Given the description of an element on the screen output the (x, y) to click on. 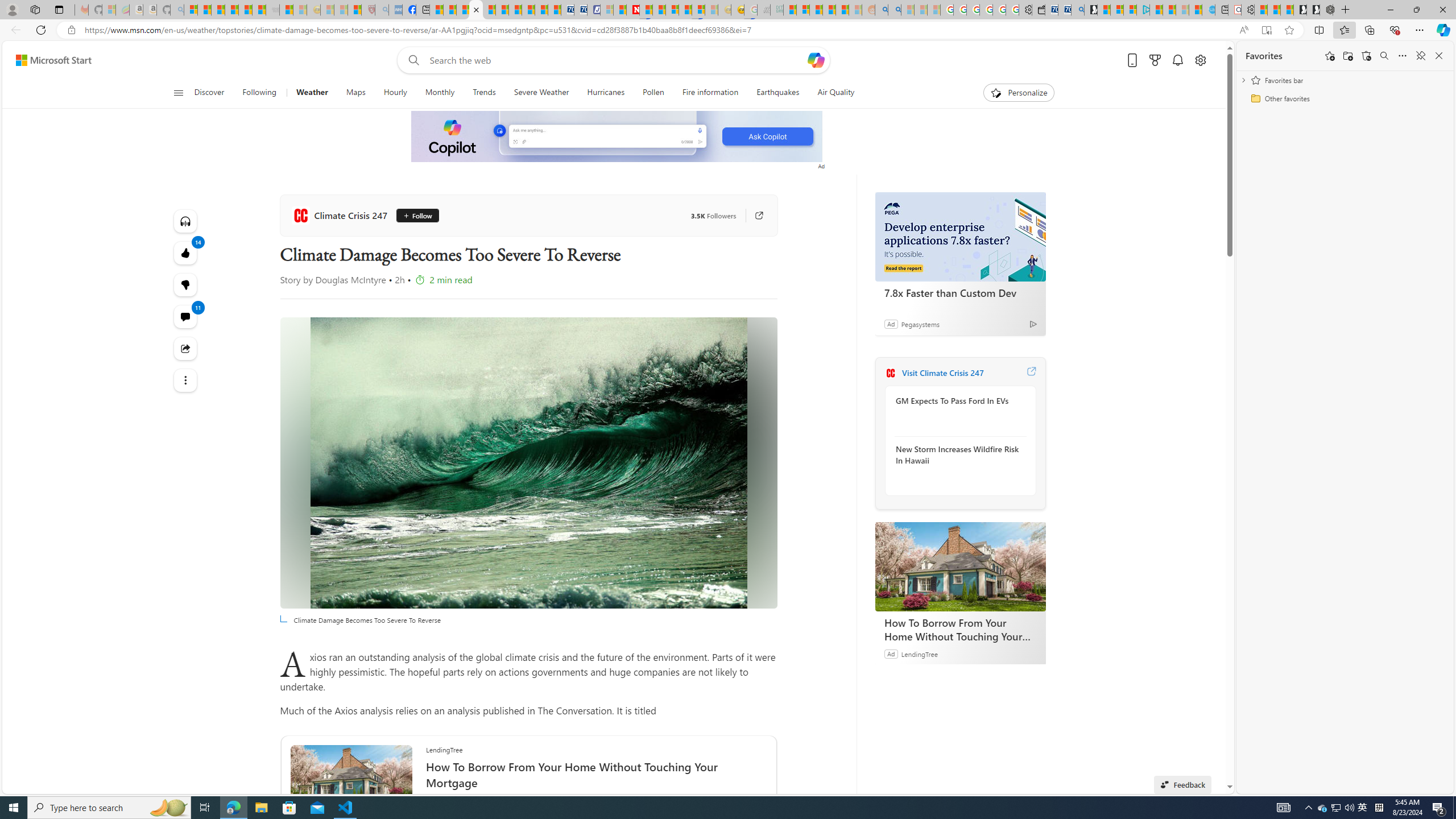
Local - MSN (354, 9)
Latest Politics News & Archive | Newsweek.com (633, 9)
